Given the description of an element on the screen output the (x, y) to click on. 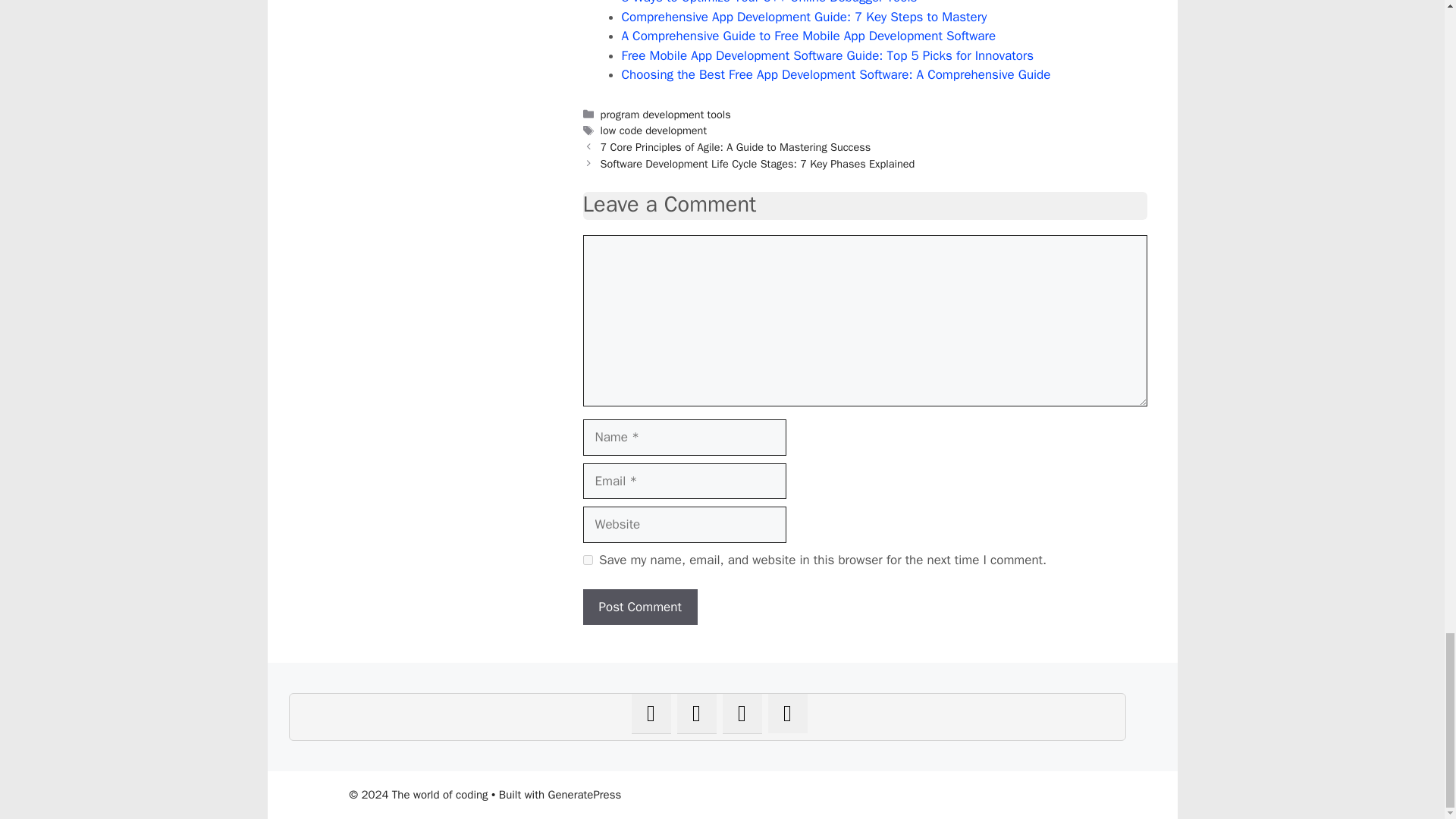
Post Comment (639, 606)
Post Comment (639, 606)
Comprehensive App Development Guide: 7 Key Steps to Mastery (804, 17)
low code development (652, 130)
program development tools (664, 114)
yes (587, 560)
